Given the description of an element on the screen output the (x, y) to click on. 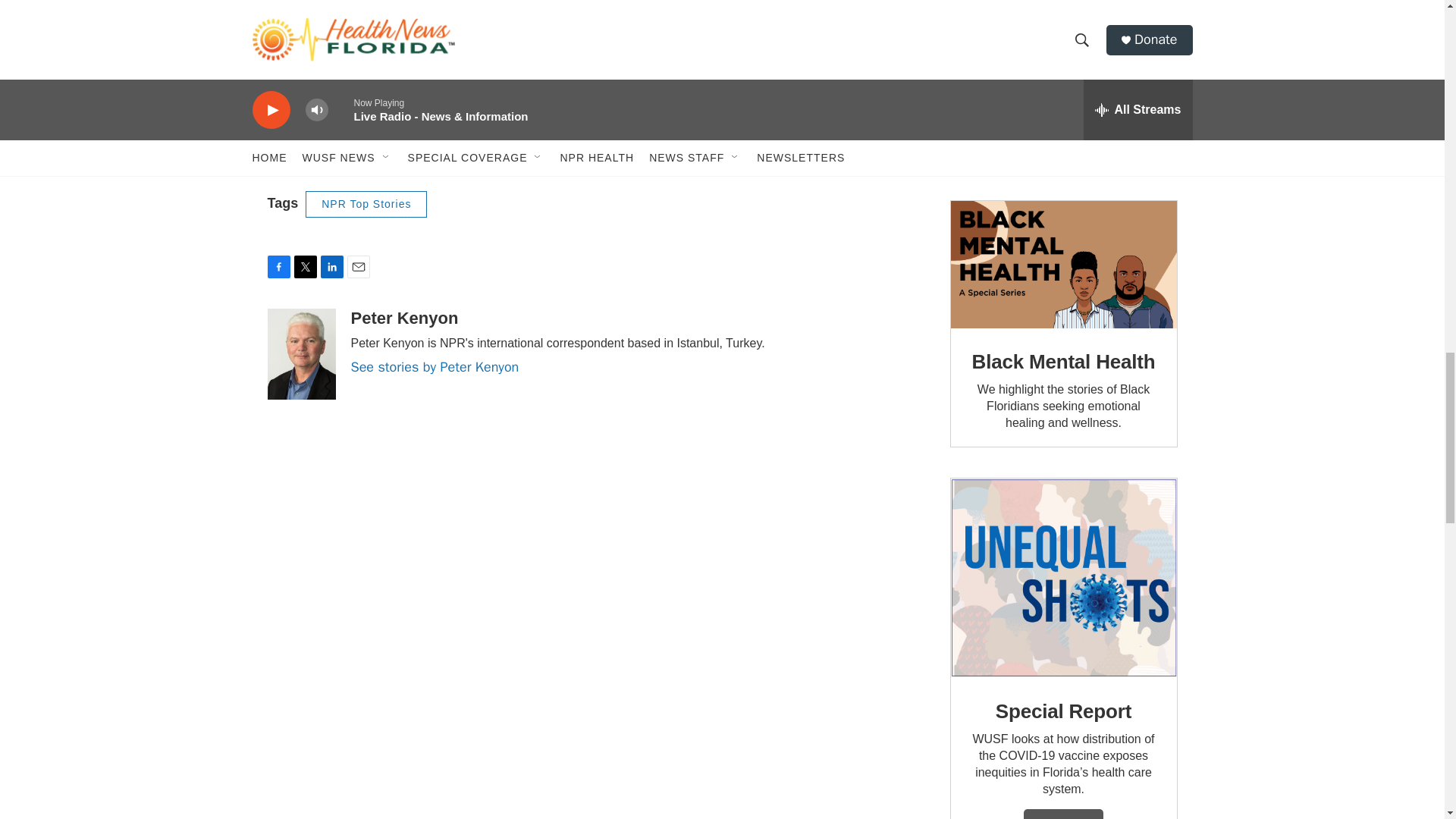
3rd party ad content (1062, 84)
